Given the description of an element on the screen output the (x, y) to click on. 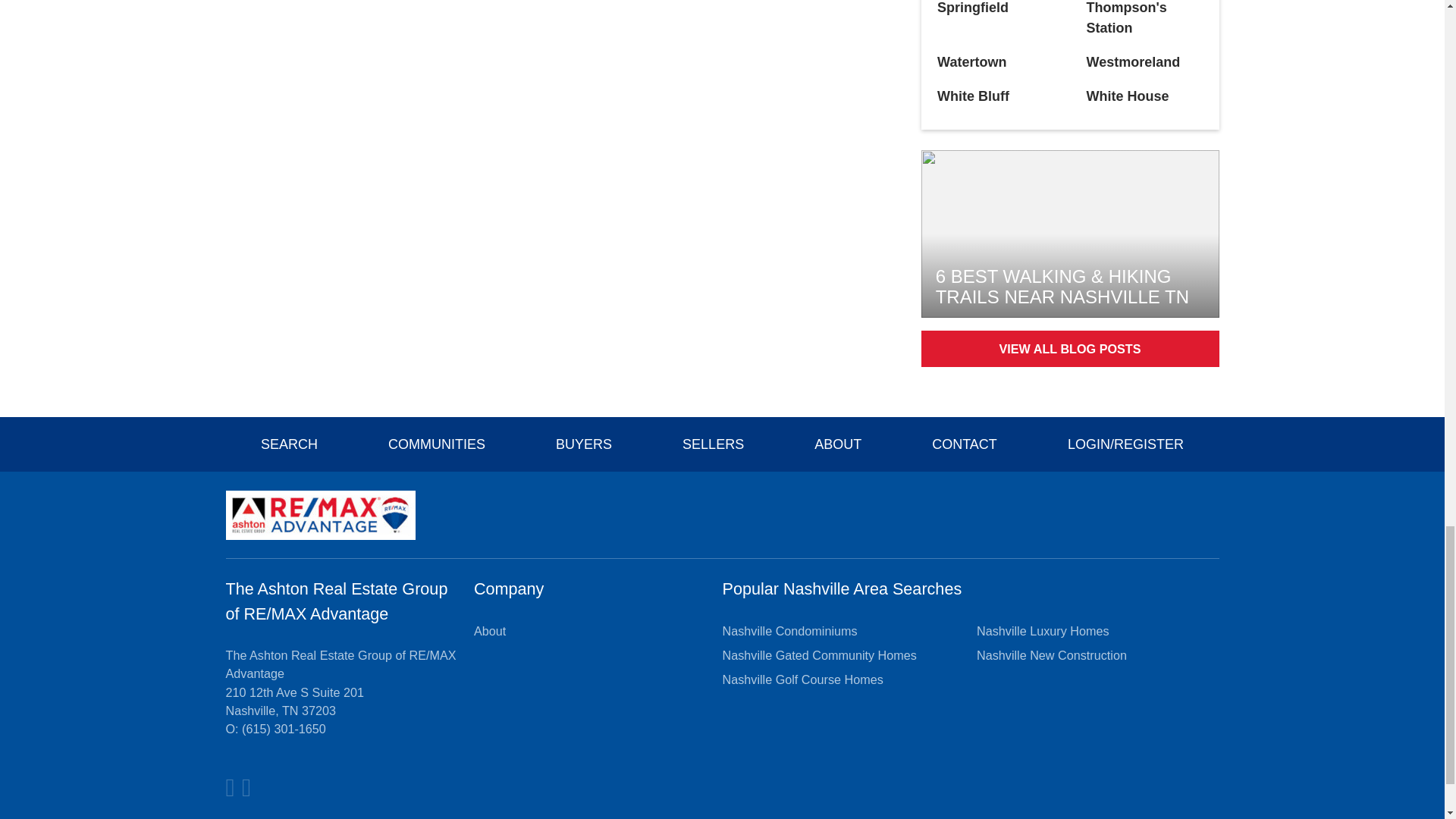
View Nashville Condominiums (789, 630)
Home Page (319, 513)
View Nashville Gated Community Homes (818, 655)
View About (489, 630)
